Given the description of an element on the screen output the (x, y) to click on. 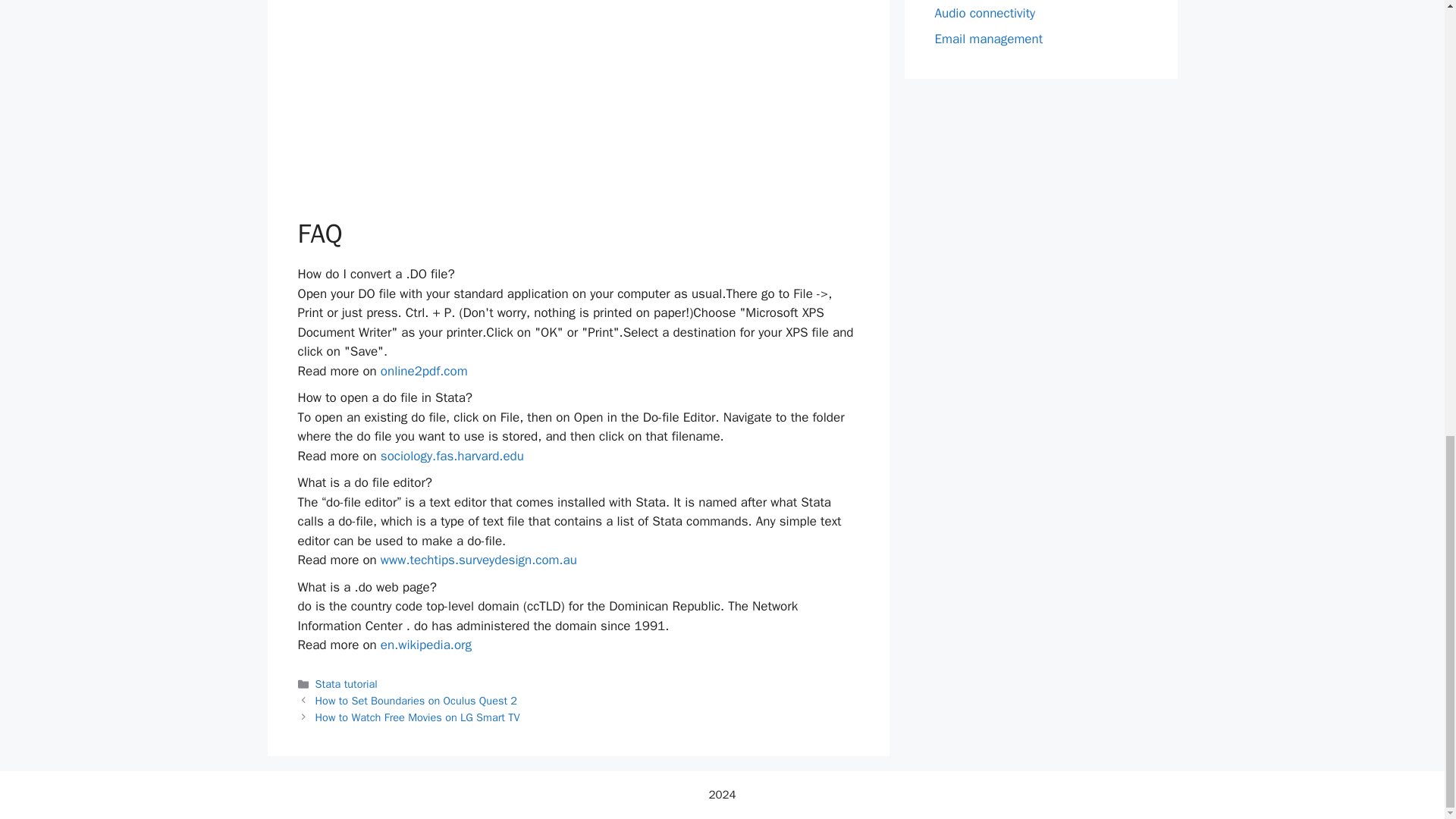
online2pdf.com (423, 371)
sociology.fas.harvard.edu (452, 455)
How to Watch Free Movies on LG Smart TV (417, 716)
How to Set Boundaries on Oculus Quest 2 (415, 700)
Audio connectivity (984, 12)
Email management (988, 38)
Stata tutorial (346, 684)
en.wikipedia.org (425, 644)
www.techtips.surveydesign.com.au (478, 560)
